Given the description of an element on the screen output the (x, y) to click on. 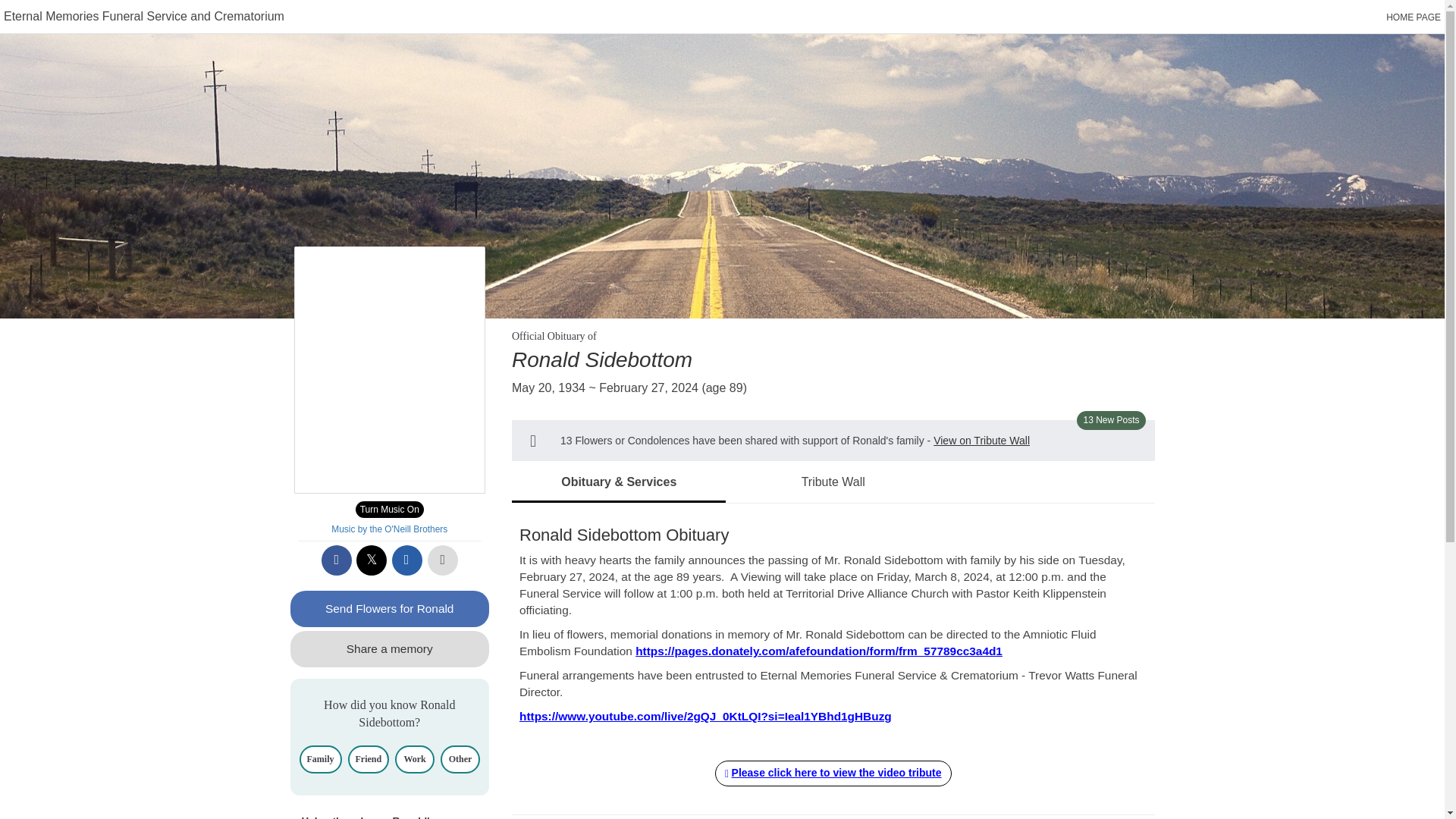
 Please click here to view the video tribute (833, 773)
Share on X (371, 560)
Send Flowers for Ronald (389, 608)
Printable copy (443, 560)
Eternal Memories Funeral Service and Crematorium (143, 15)
Turn Music On (389, 509)
View on Tribute Wall (981, 440)
Music by the O'Neill Brothers (388, 529)
HOME PAGE (1413, 17)
Share via email (406, 560)
